Given the description of an element on the screen output the (x, y) to click on. 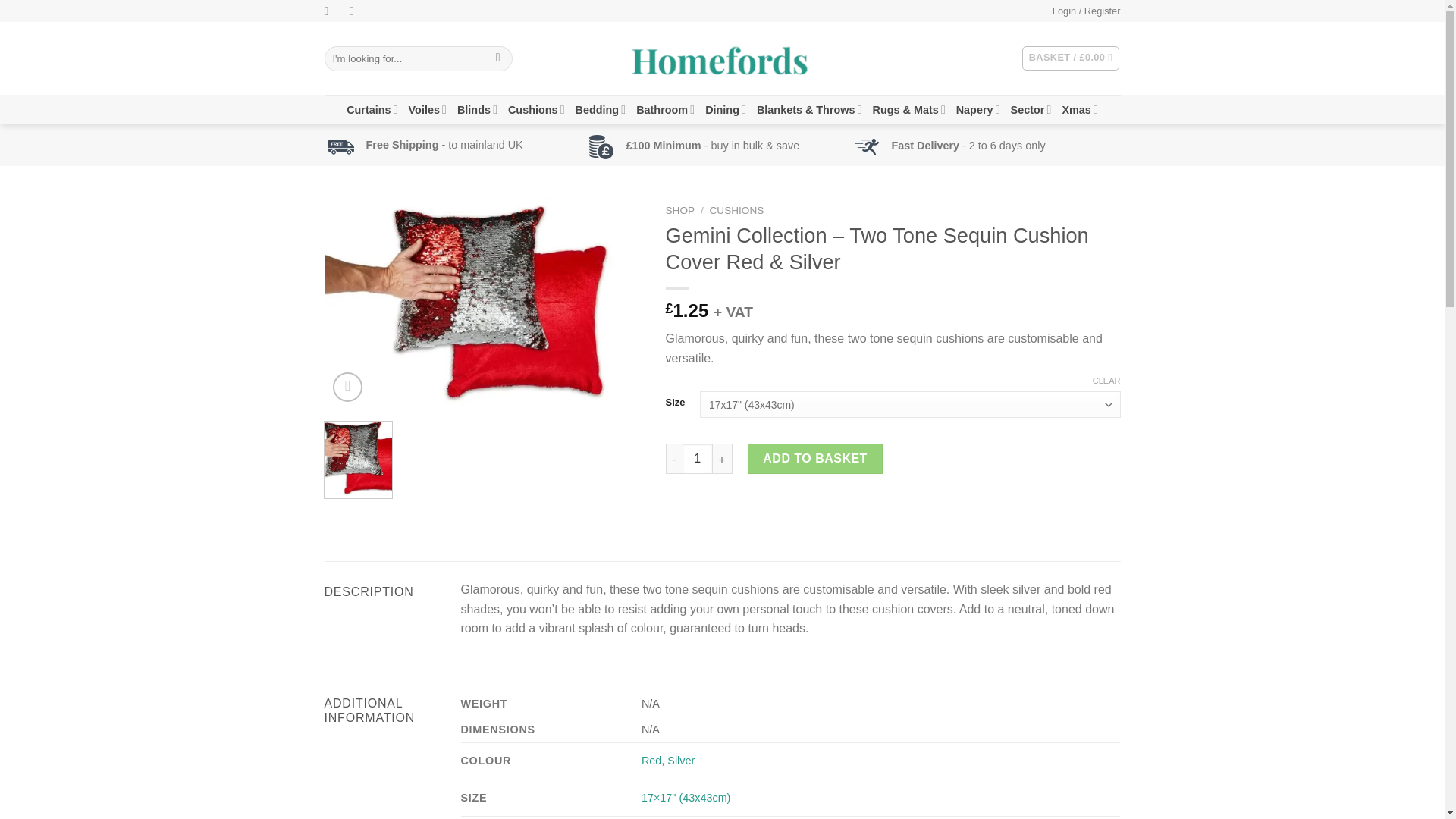
Curtains (371, 109)
1 (697, 458)
Homefords (720, 58)
Search (497, 58)
Basket (1070, 57)
